Given the description of an element on the screen output the (x, y) to click on. 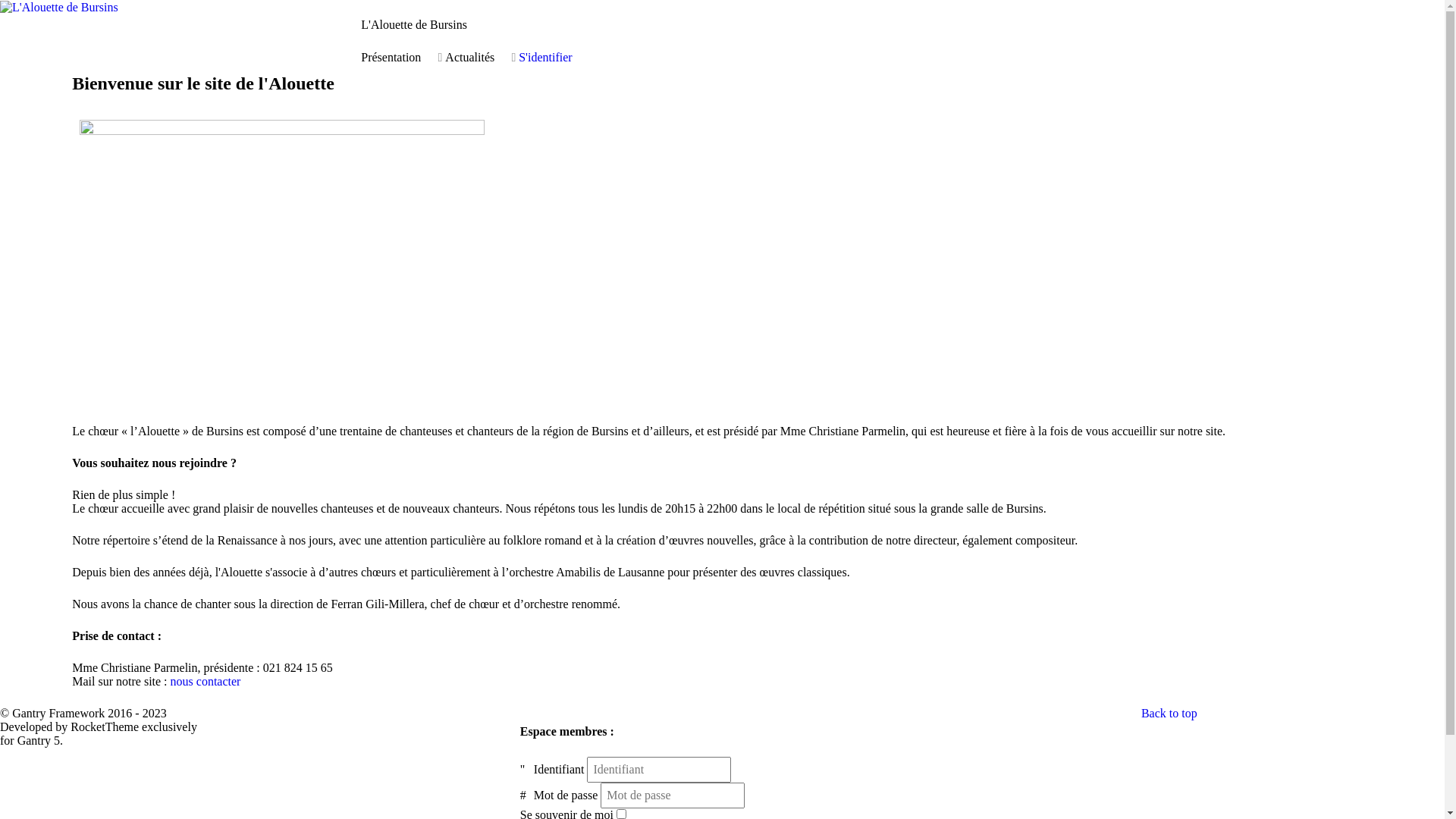
Mot de passe Element type: hover (525, 795)
S'identifier Element type: text (544, 57)
L'Alouette de Bursins Element type: hover (59, 6)
nous contacter Element type: text (205, 680)
Back to top Element type: text (1169, 712)
Identifiant Element type: hover (525, 769)
